Given the description of an element on the screen output the (x, y) to click on. 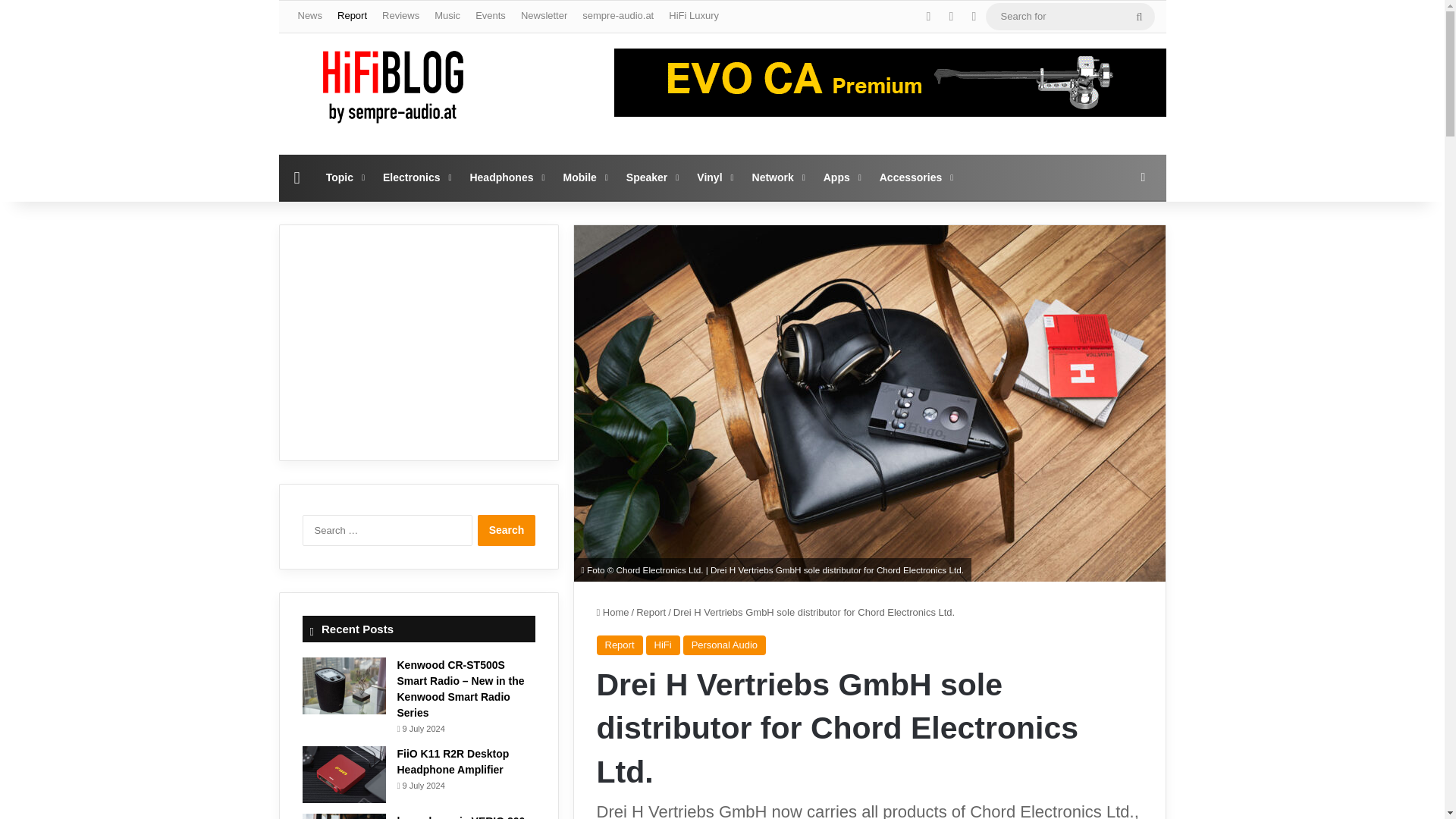
HiFi BLOG (392, 86)
sempre-audio.at (618, 15)
Topic (343, 176)
Search (506, 530)
Newsletter (544, 15)
Reviews (400, 15)
HiFi Luxury (693, 15)
Search for (1069, 16)
Search for (1139, 16)
Events (490, 15)
News (309, 15)
Report (352, 15)
Electronics (415, 176)
Search (506, 530)
Music (446, 15)
